Given the description of an element on the screen output the (x, y) to click on. 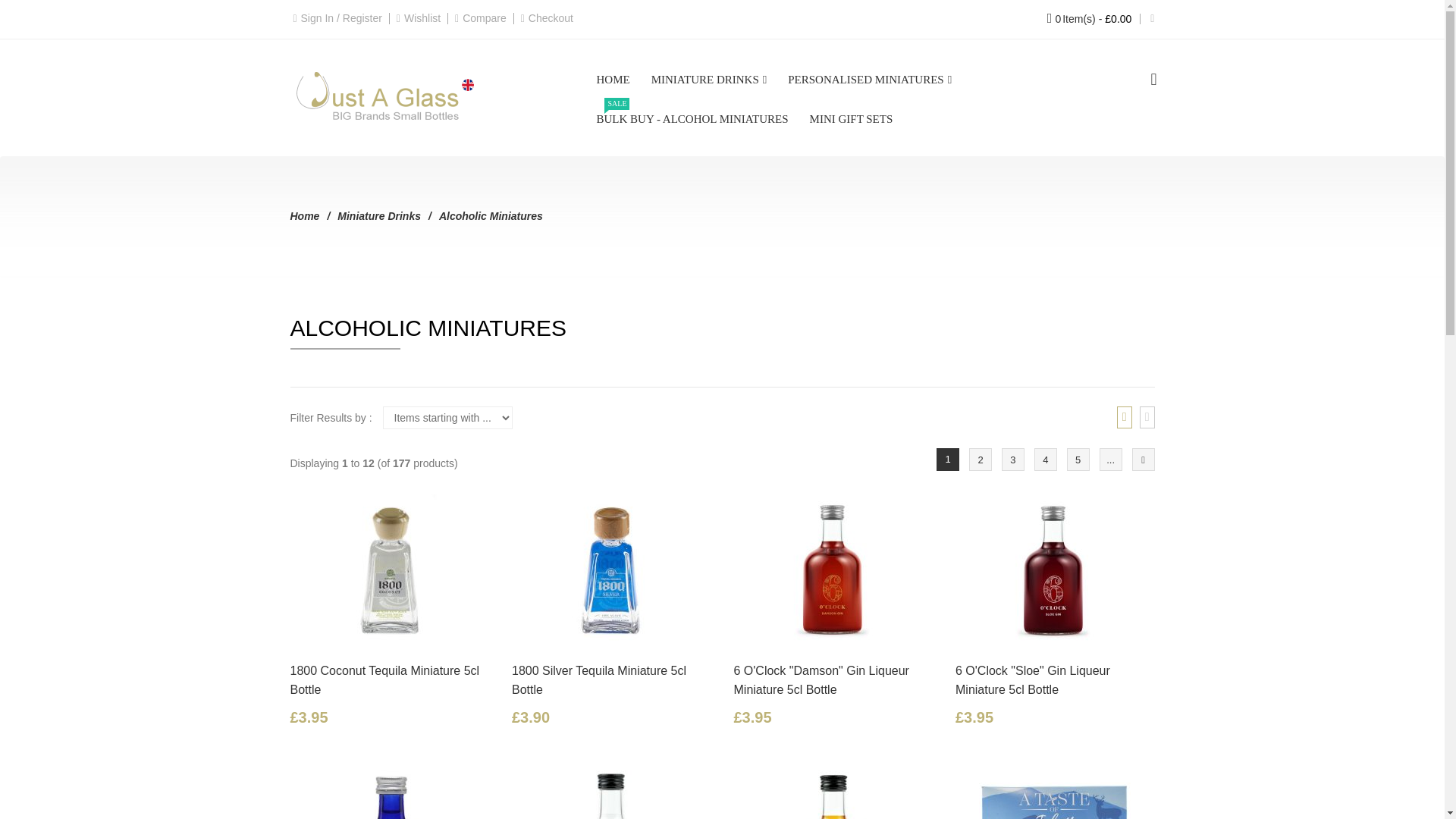
 Page 5  (1078, 458)
 Page 4  (1045, 458)
Checkout (550, 18)
Wishlist (422, 18)
 Page 3  (1013, 458)
1800 Coconut Tequila Miniature 5cl Bottle (389, 569)
 Next Set of 5 Pages  (1110, 458)
Compare (484, 18)
 Next Page  (1142, 458)
 Page 2  (980, 458)
